Given the description of an element on the screen output the (x, y) to click on. 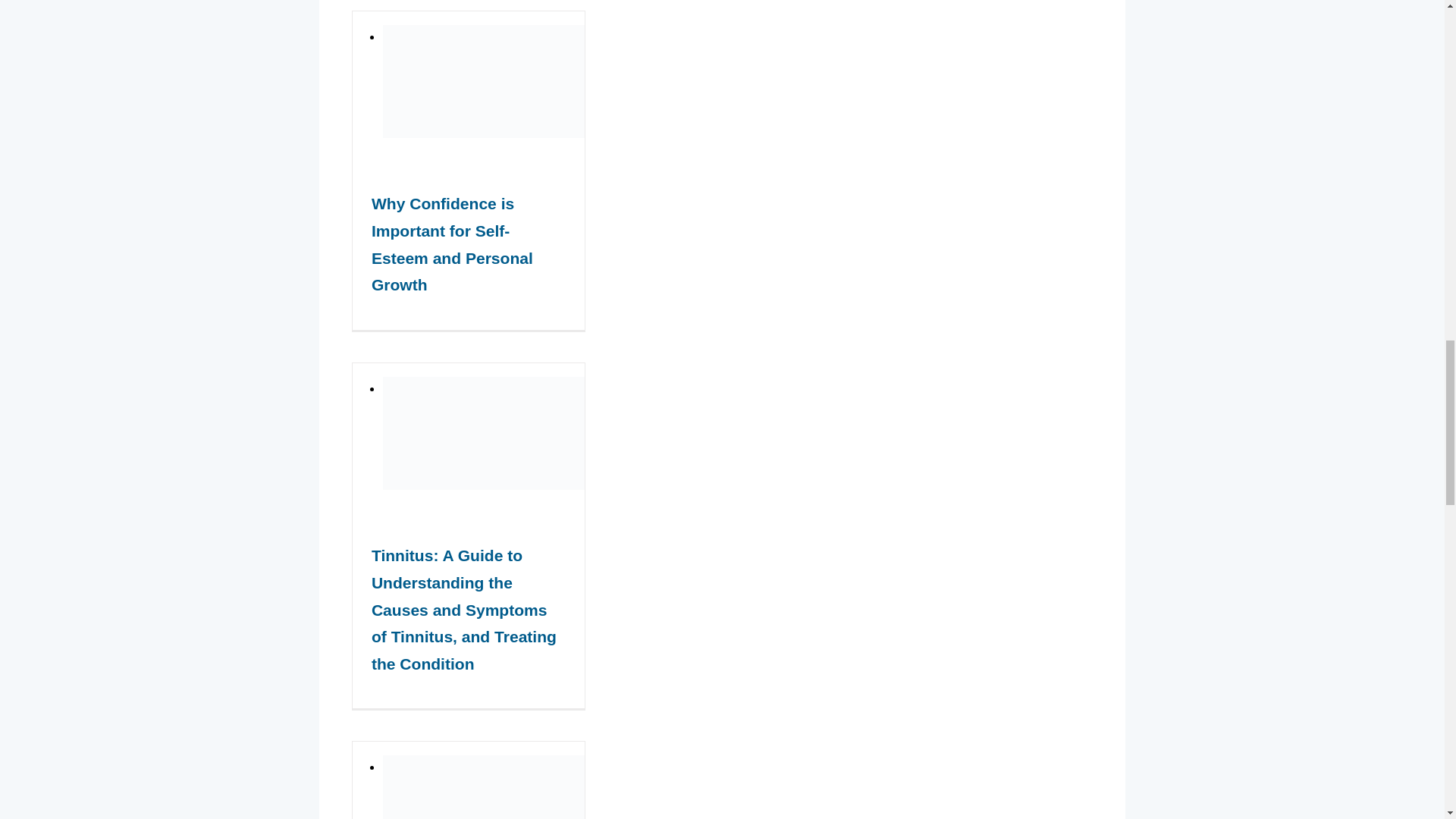
You might also like (721, 4)
